Given the description of an element on the screen output the (x, y) to click on. 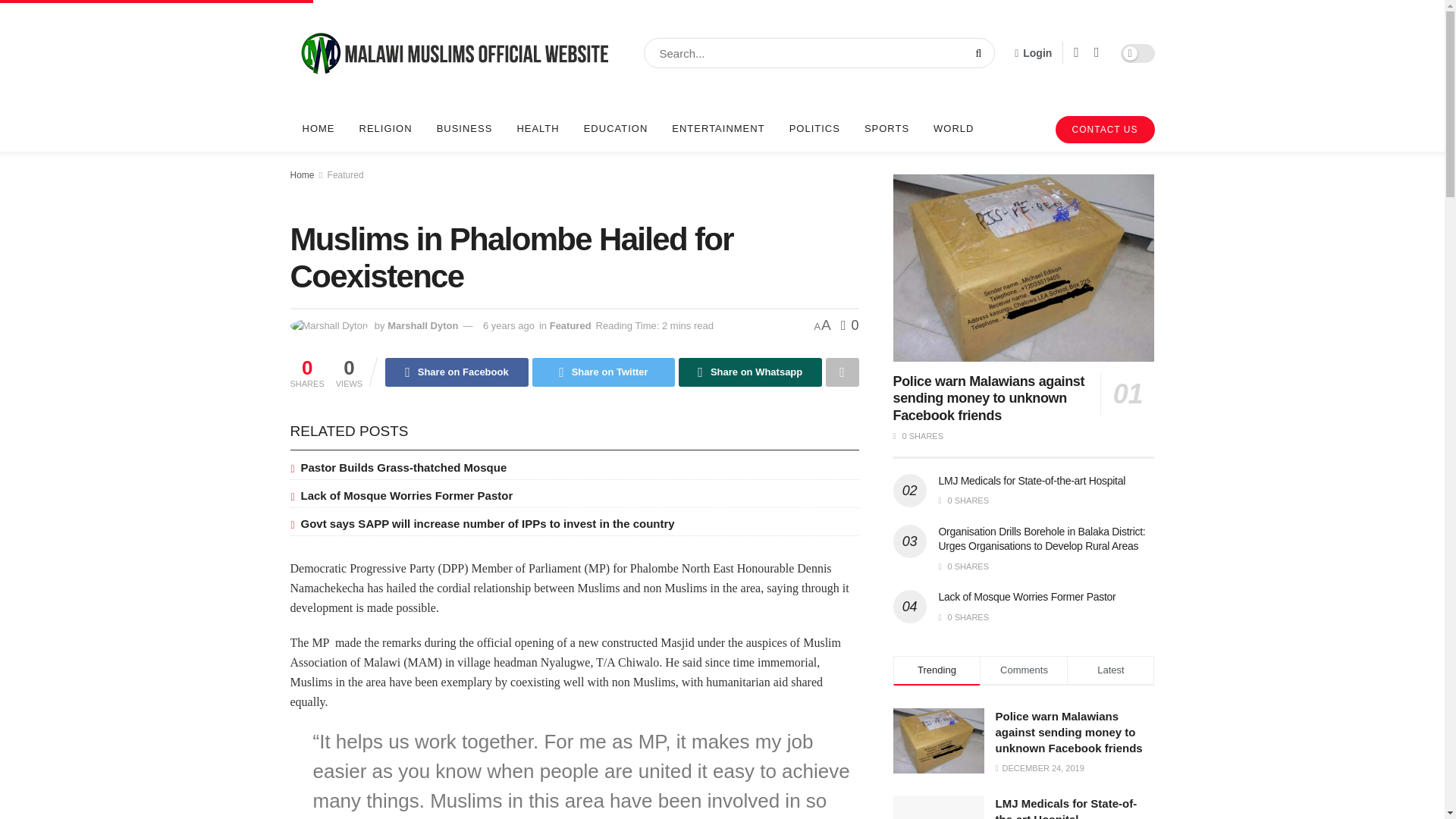
HOME (317, 128)
BUSINESS (465, 128)
WORLD (953, 128)
CONTACT US (1104, 129)
SPORTS (886, 128)
RELIGION (386, 128)
ENTERTAINMENT (717, 128)
EDUCATION (616, 128)
HEALTH (536, 128)
Login (1032, 53)
POLITICS (814, 128)
